Given the description of an element on the screen output the (x, y) to click on. 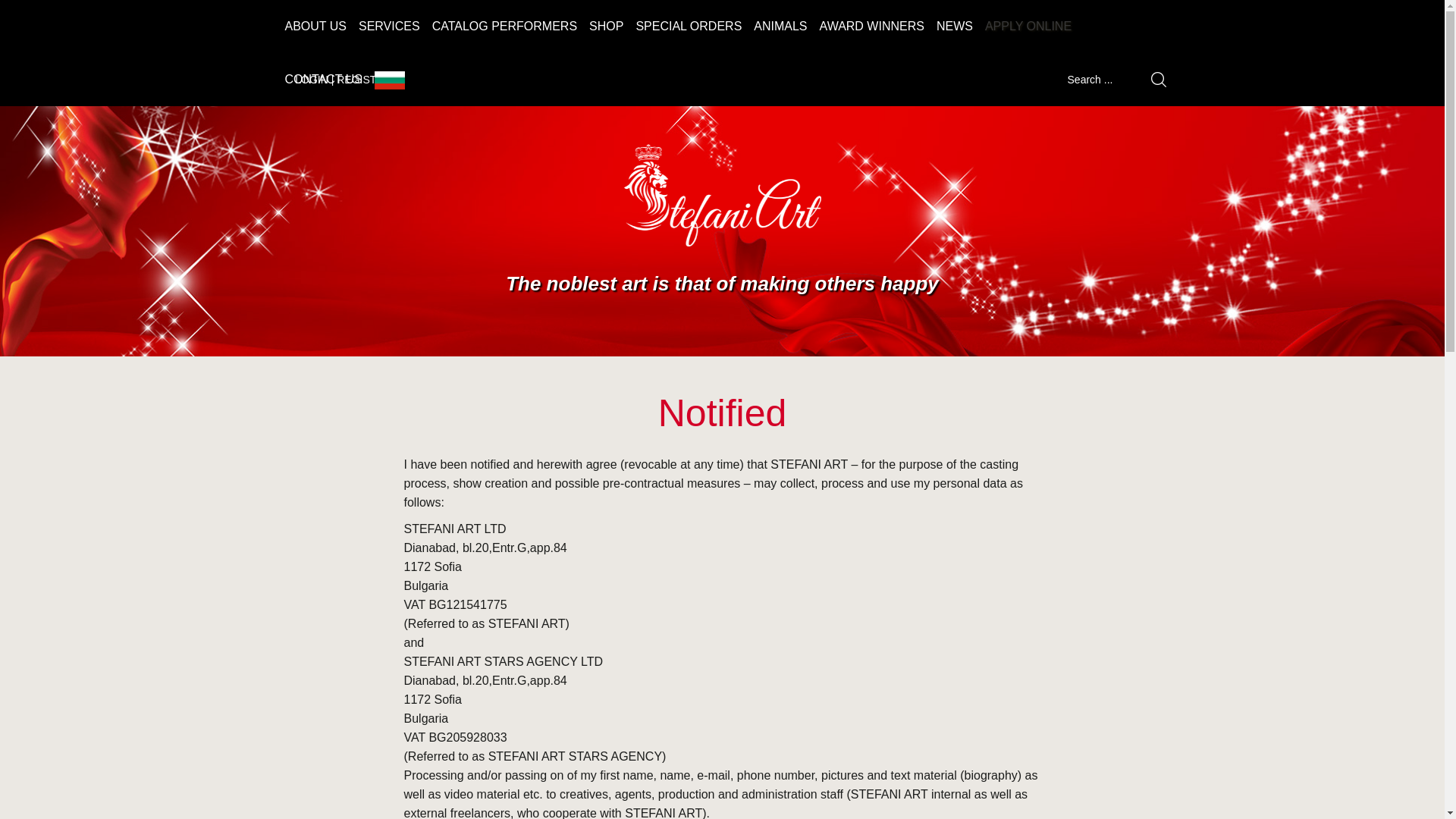
APPLY ONLINE (1027, 26)
SERVICES (389, 26)
ABOUT US (316, 26)
CATALOG PERFORMERS (504, 26)
CONTACT US (324, 79)
Search (1154, 78)
AWARD WINNERS (871, 26)
SPECIAL ORDERS (688, 26)
NEWS (954, 26)
Stefani Art - International Entertainment Agency (722, 195)
ANIMALS (780, 26)
